Given the description of an element on the screen output the (x, y) to click on. 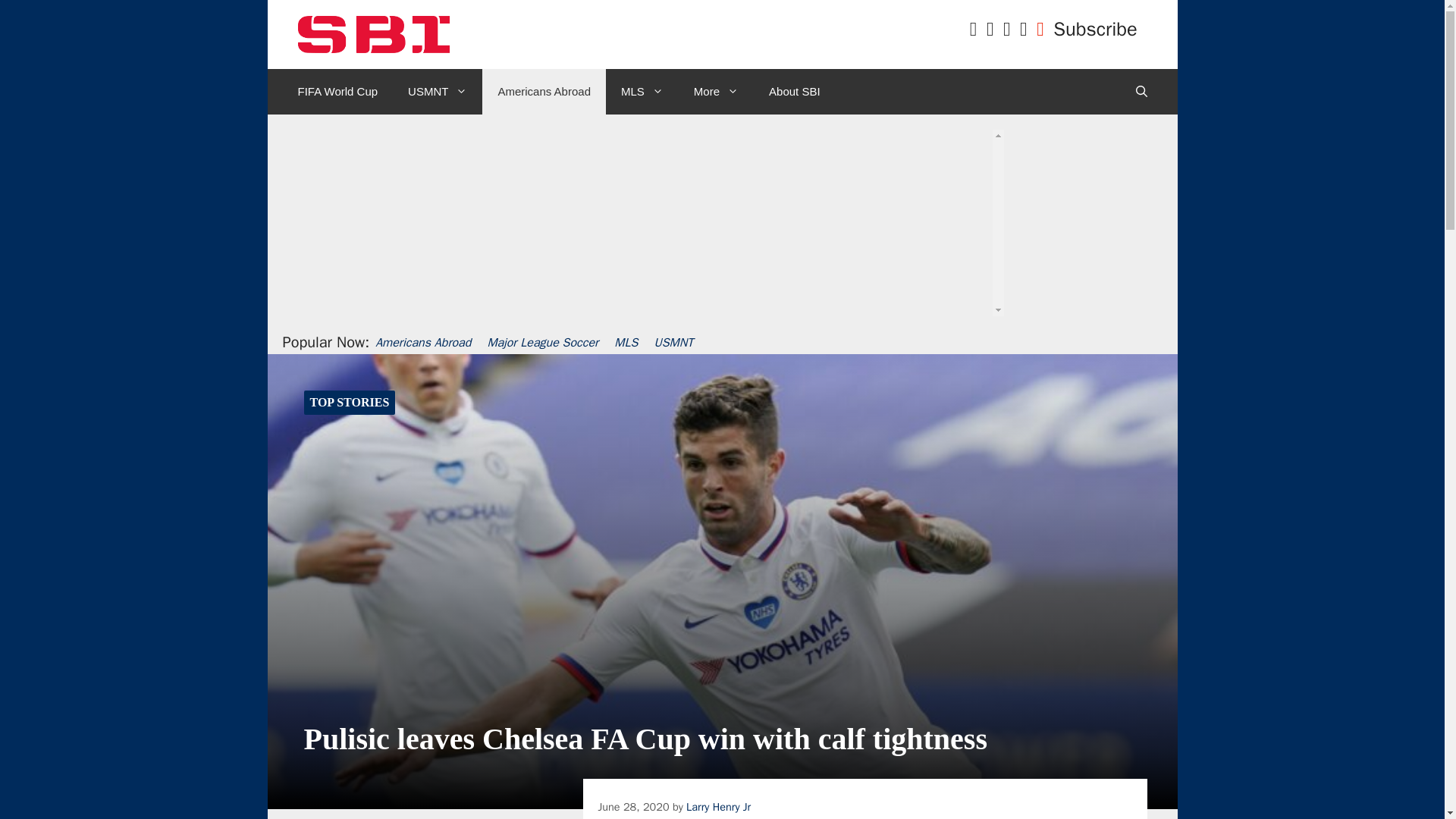
View all posts by Larry Henry Jr (718, 807)
Subscribe (1094, 28)
FIFA World Cup (337, 91)
Americans Abroad (543, 91)
USMNT (437, 91)
MLS (641, 91)
